Given the description of an element on the screen output the (x, y) to click on. 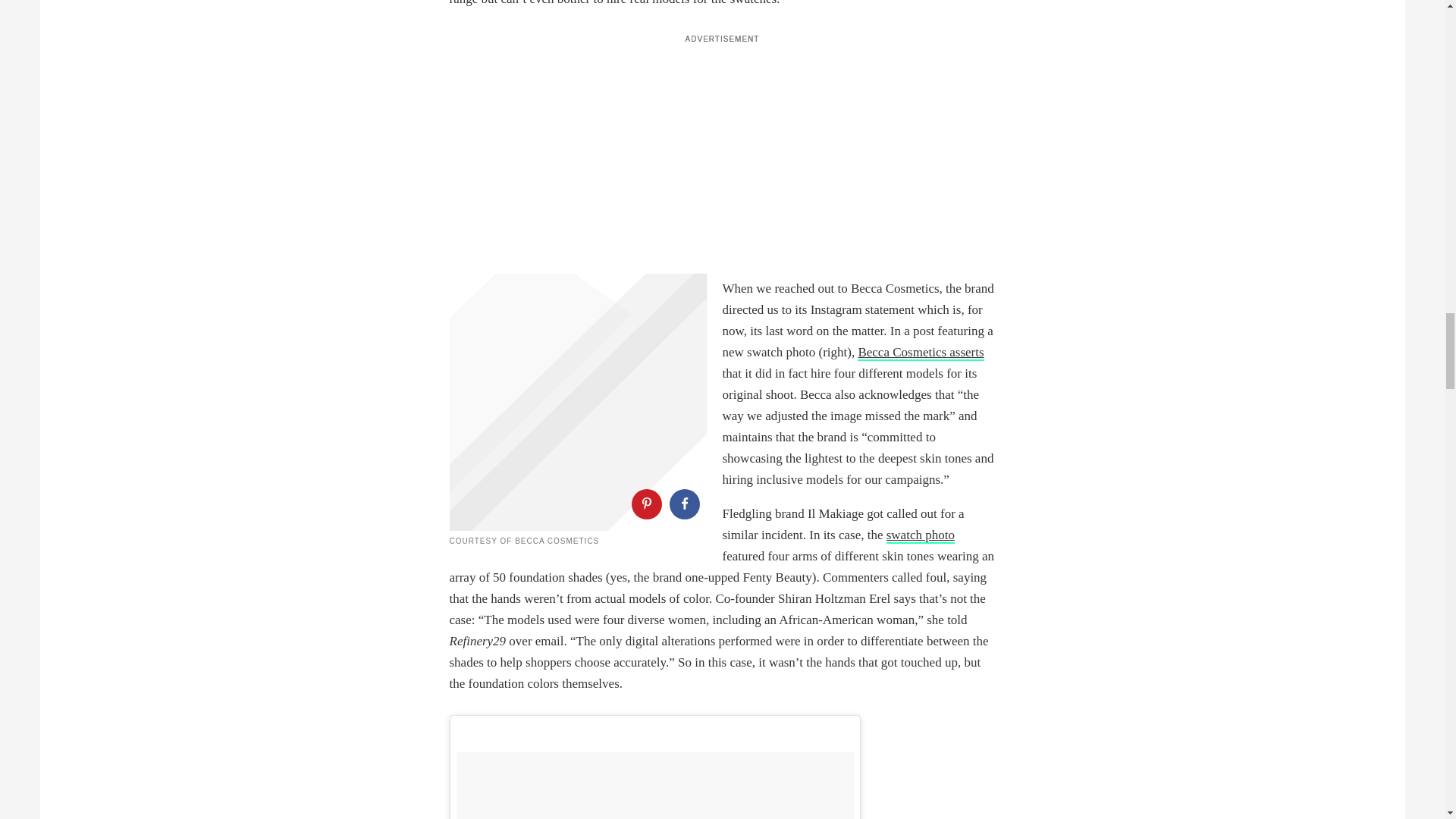
swatch photo (920, 535)
Share on Pinterest (645, 503)
Becca Cosmetics asserts (920, 352)
